Given the description of an element on the screen output the (x, y) to click on. 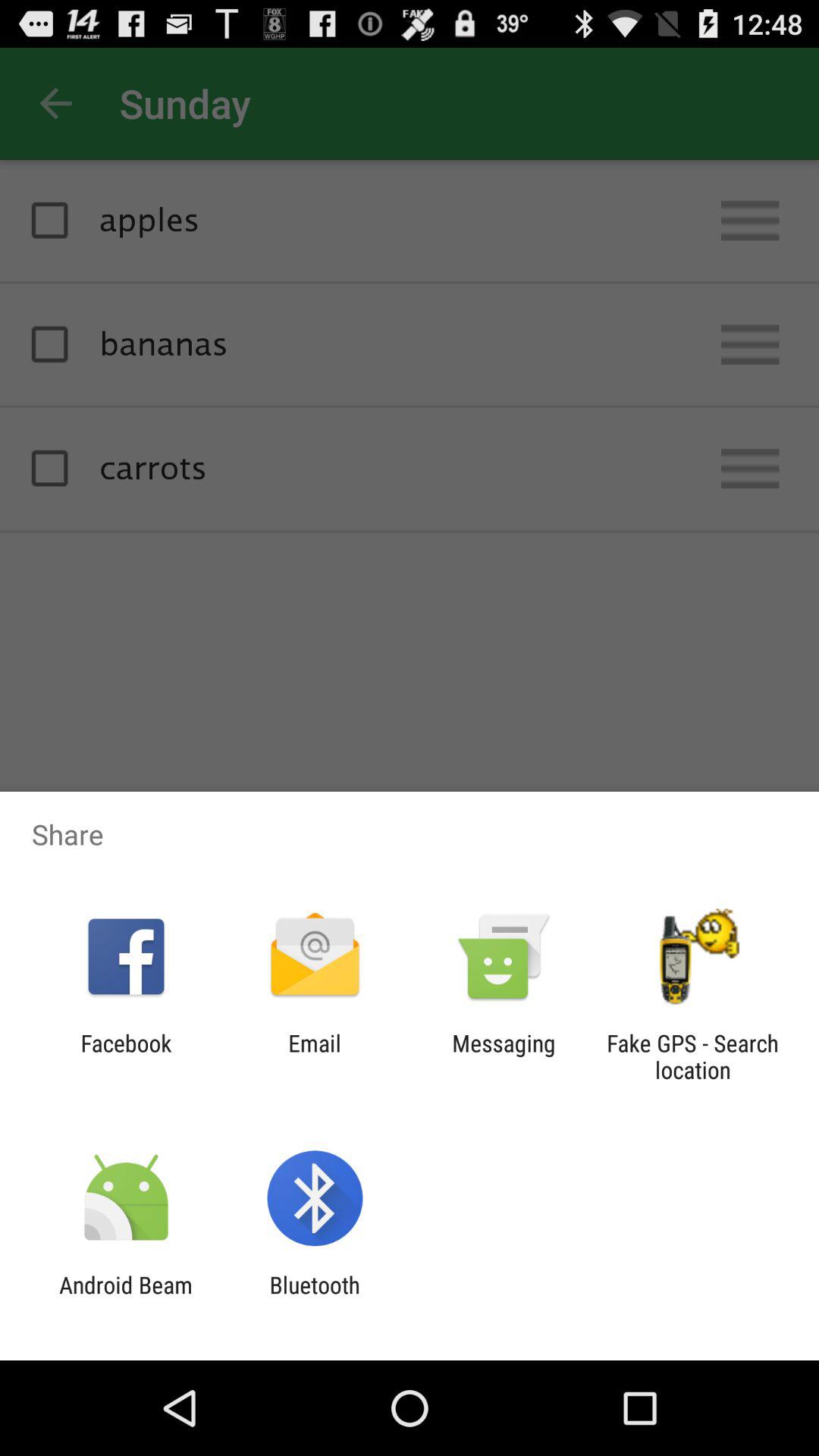
turn off the app next to messaging app (692, 1056)
